Given the description of an element on the screen output the (x, y) to click on. 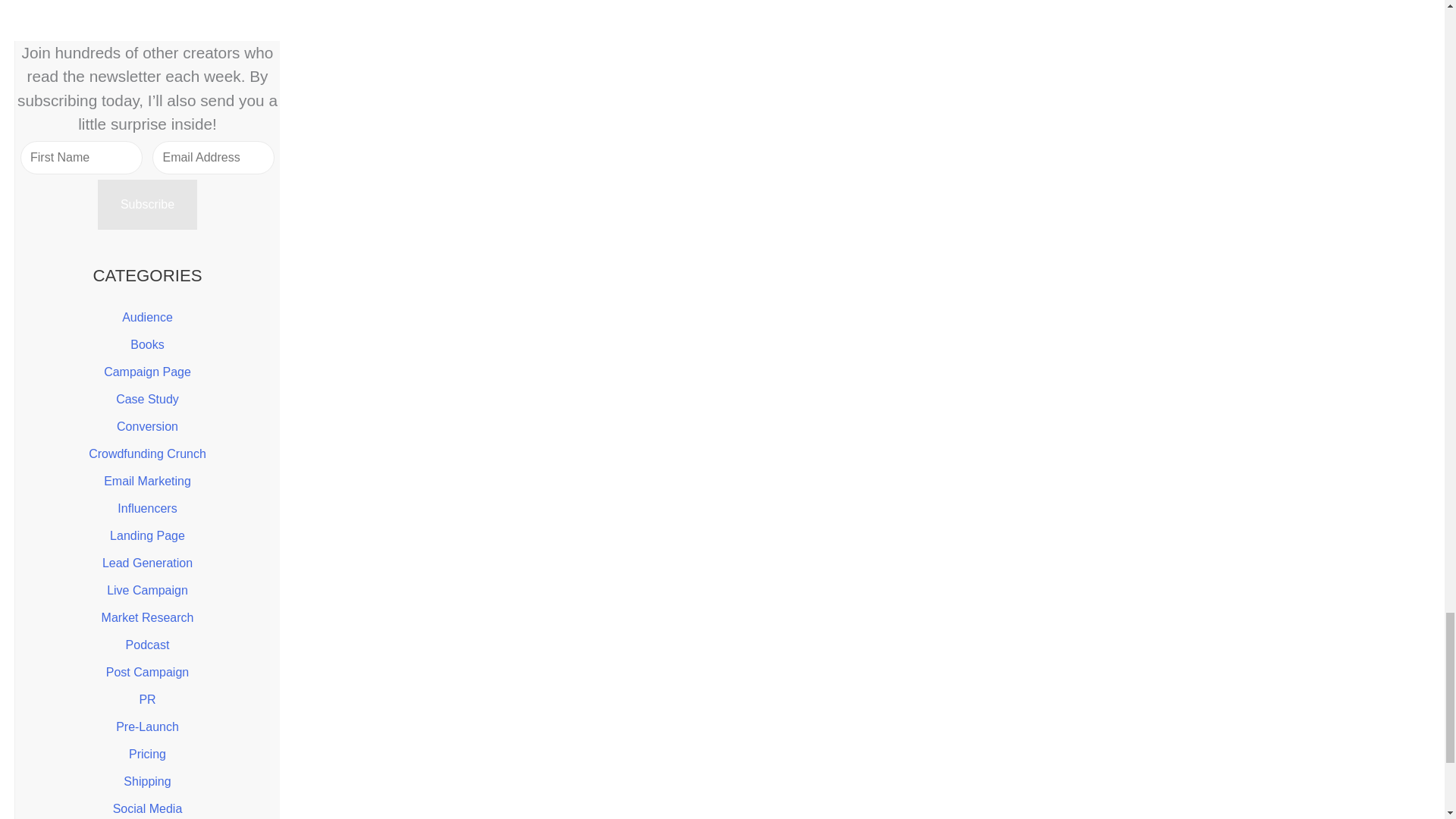
Subscribe (146, 204)
Subscribe (146, 204)
Audience (147, 317)
Books (147, 344)
Campaign Page (146, 371)
